Given the description of an element on the screen output the (x, y) to click on. 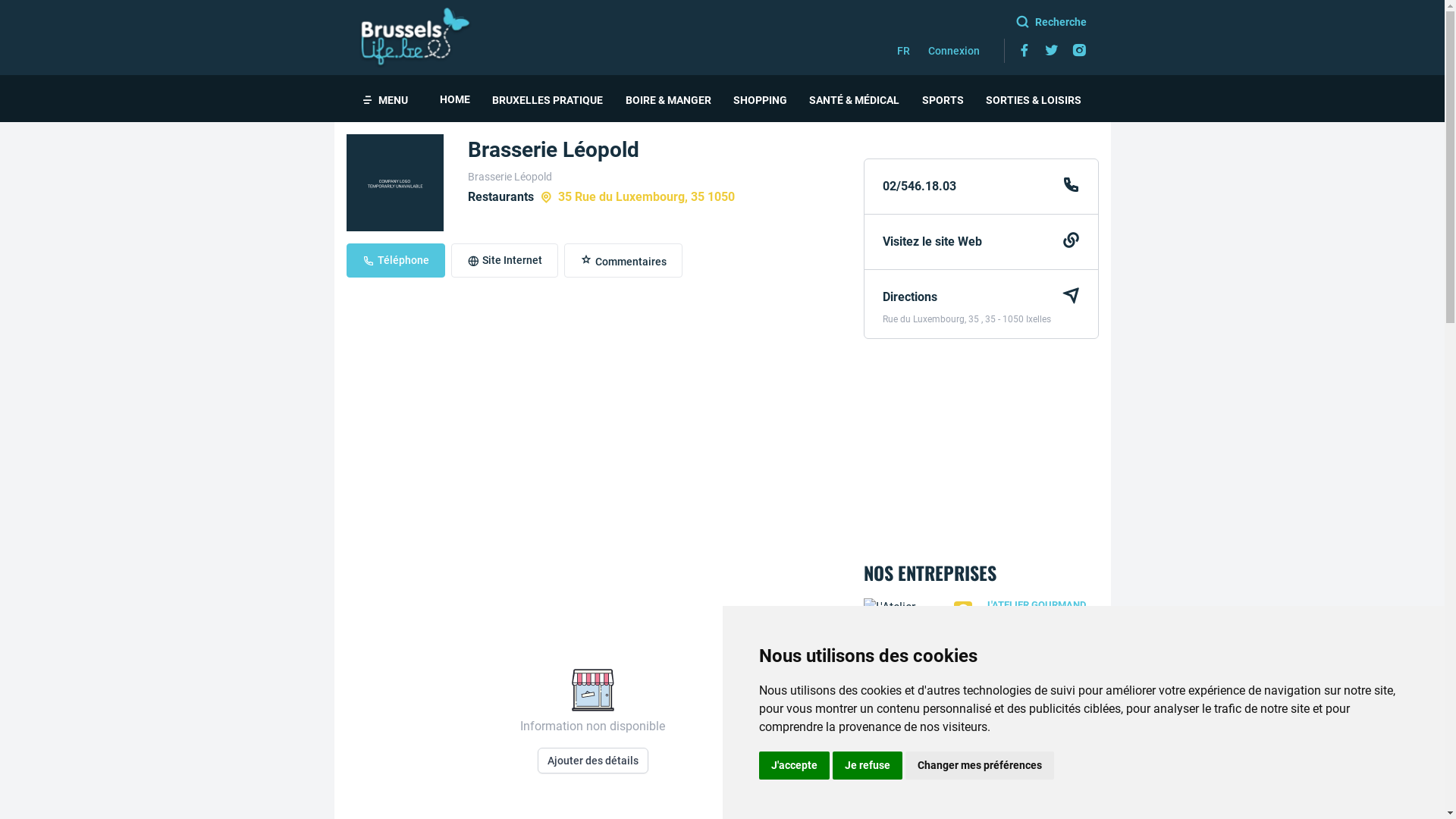
Commentaires Element type: text (623, 260)
SHOPPING Element type: text (760, 98)
Hard Rock Cafe Bruxelles Element type: text (980, 727)
J'accepte Element type: text (793, 765)
HOME Element type: text (454, 97)
Twitter Element type: text (1050, 50)
Recherche Element type: text (990, 22)
Facebook Element type: text (1023, 50)
MENU Element type: text (383, 98)
Je refuse Element type: text (867, 765)
Site Internet Element type: text (503, 260)
Connexion Element type: text (953, 50)
BOIRE & MANGER Element type: text (668, 98)
SORTIES & LOISIRS Element type: text (1033, 98)
Advertisement Element type: hover (980, 448)
FR Element type: text (902, 50)
Instagram Element type: text (1077, 50)
L'Atelier Gourmand Element type: text (980, 641)
SPORTS Element type: text (942, 98)
BRUXELLES PRATIQUE Element type: text (547, 98)
